Given the description of an element on the screen output the (x, y) to click on. 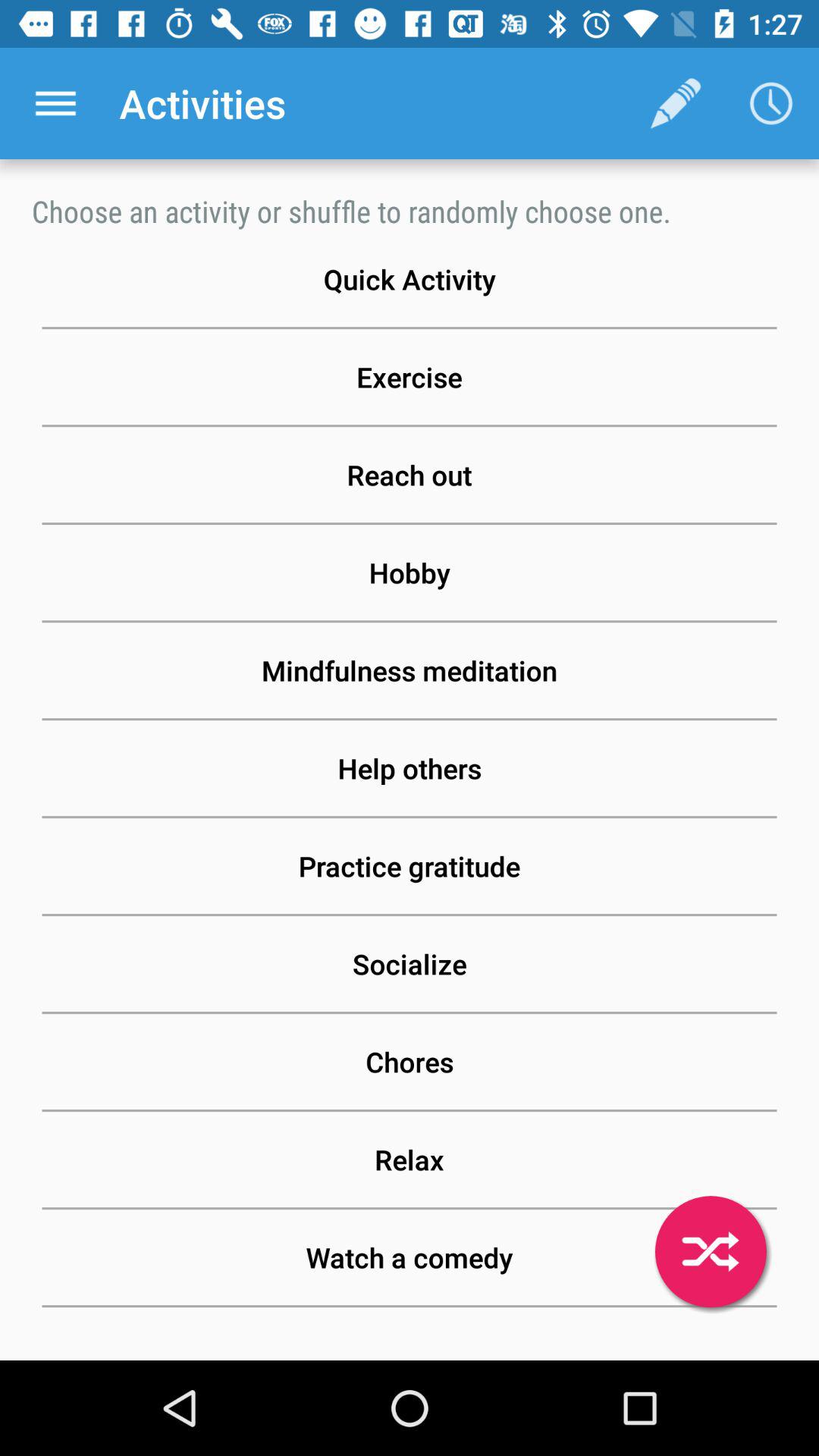
click the reach out (409, 474)
